Given the description of an element on the screen output the (x, y) to click on. 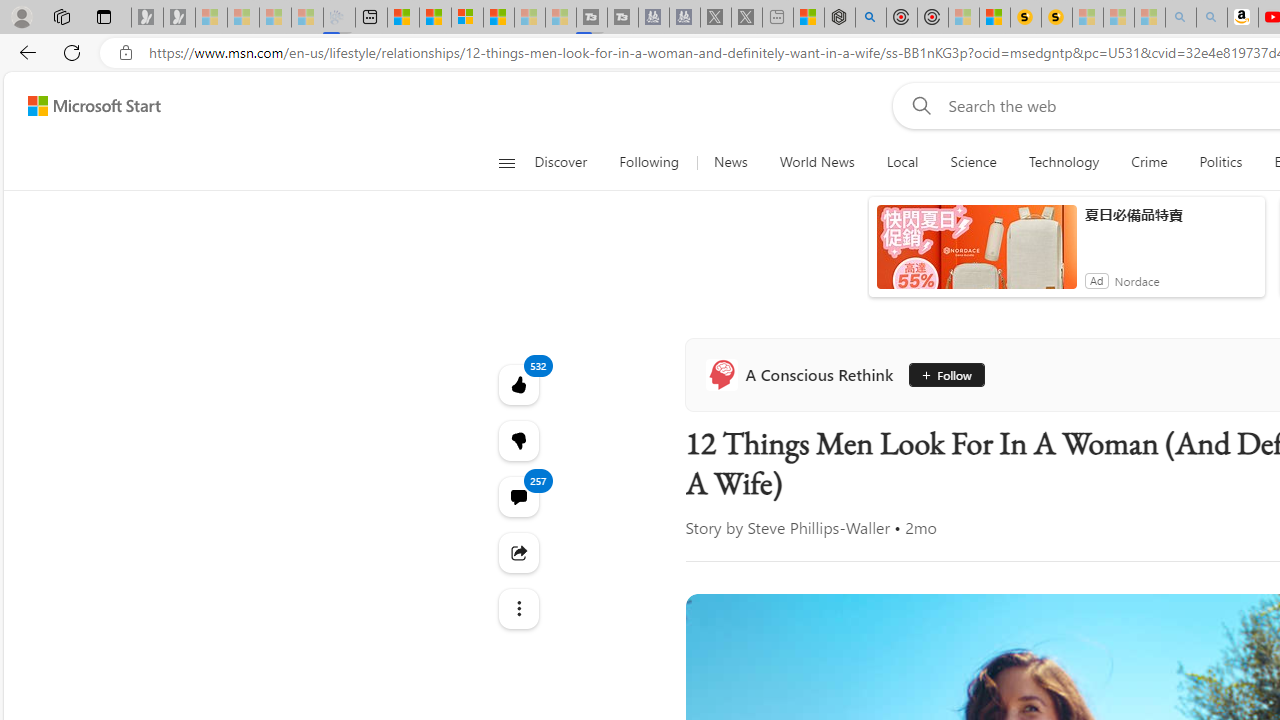
Web search (917, 105)
Newsletter Sign Up - Sleeping (178, 17)
World News (816, 162)
Open navigation menu (506, 162)
Streaming Coverage | T3 - Sleeping (591, 17)
Politics (1220, 162)
Dislike (517, 440)
Local (902, 162)
